Given the description of an element on the screen output the (x, y) to click on. 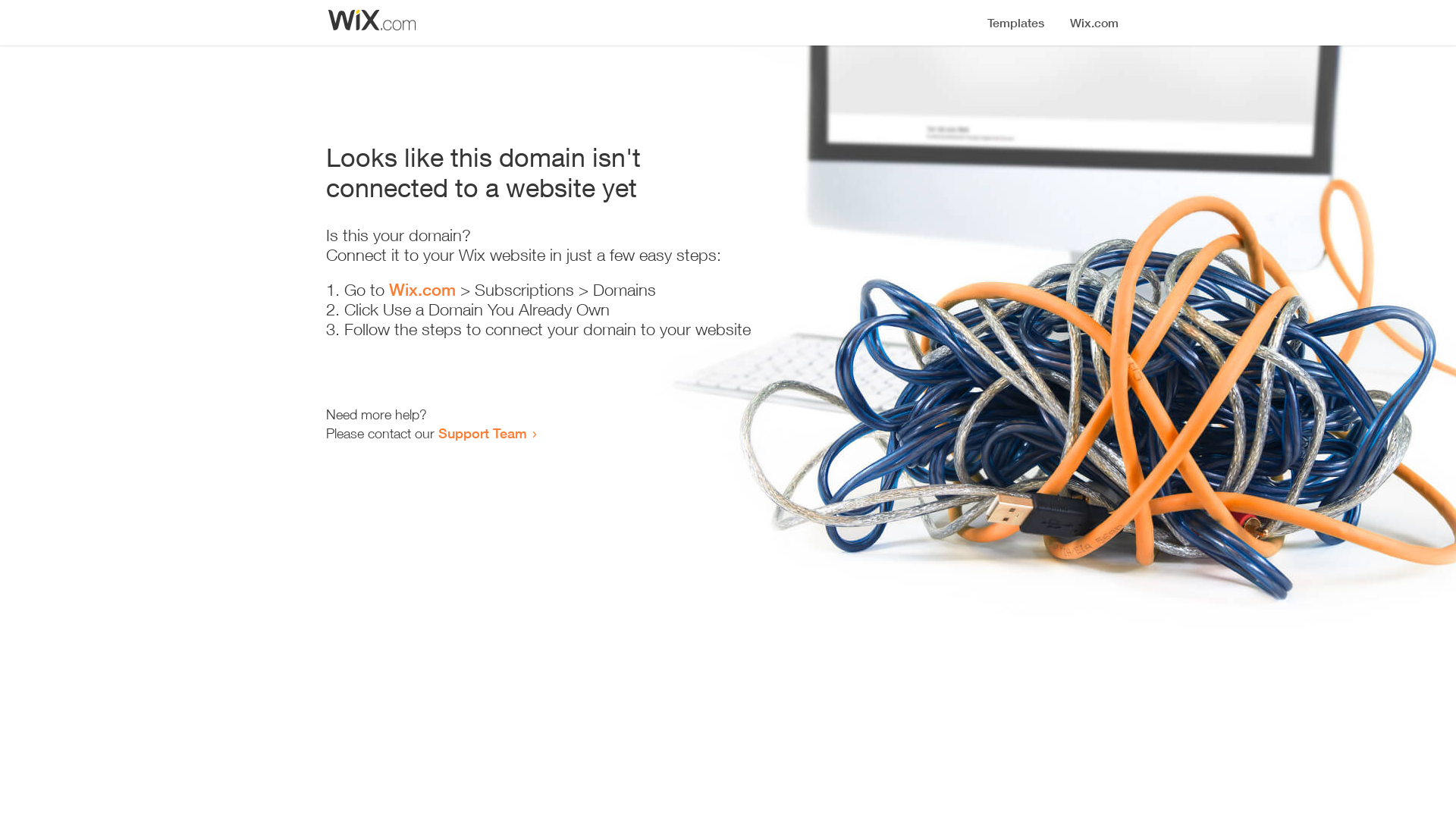
Support Team Element type: text (482, 432)
Wix.com Element type: text (422, 289)
